Given the description of an element on the screen output the (x, y) to click on. 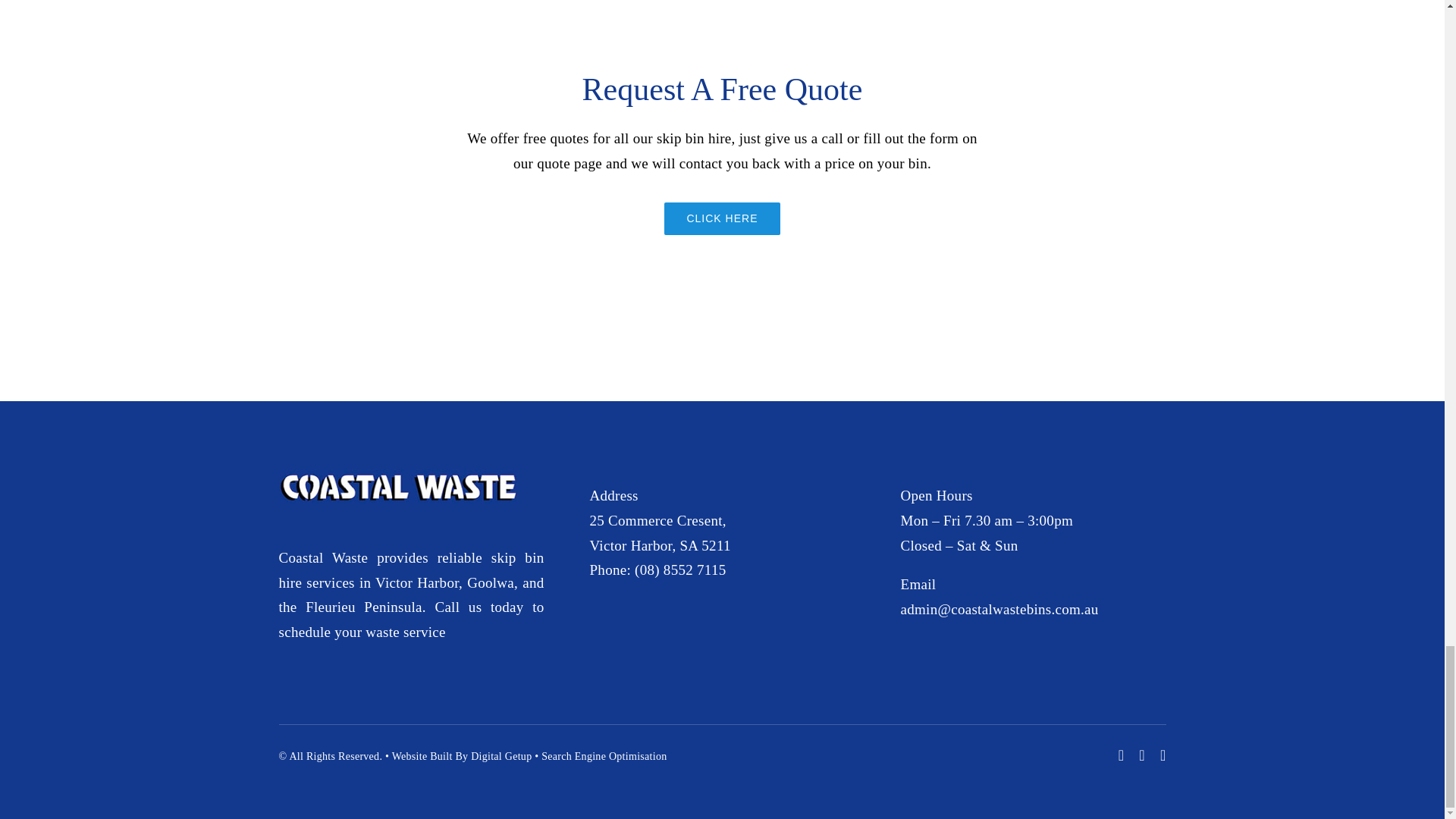
Website Built By Digital Getup (461, 756)
Coastal Waste Logo (397, 486)
Search Engine Optimisation (603, 756)
CLICK HERE (720, 218)
